Given the description of an element on the screen output the (x, y) to click on. 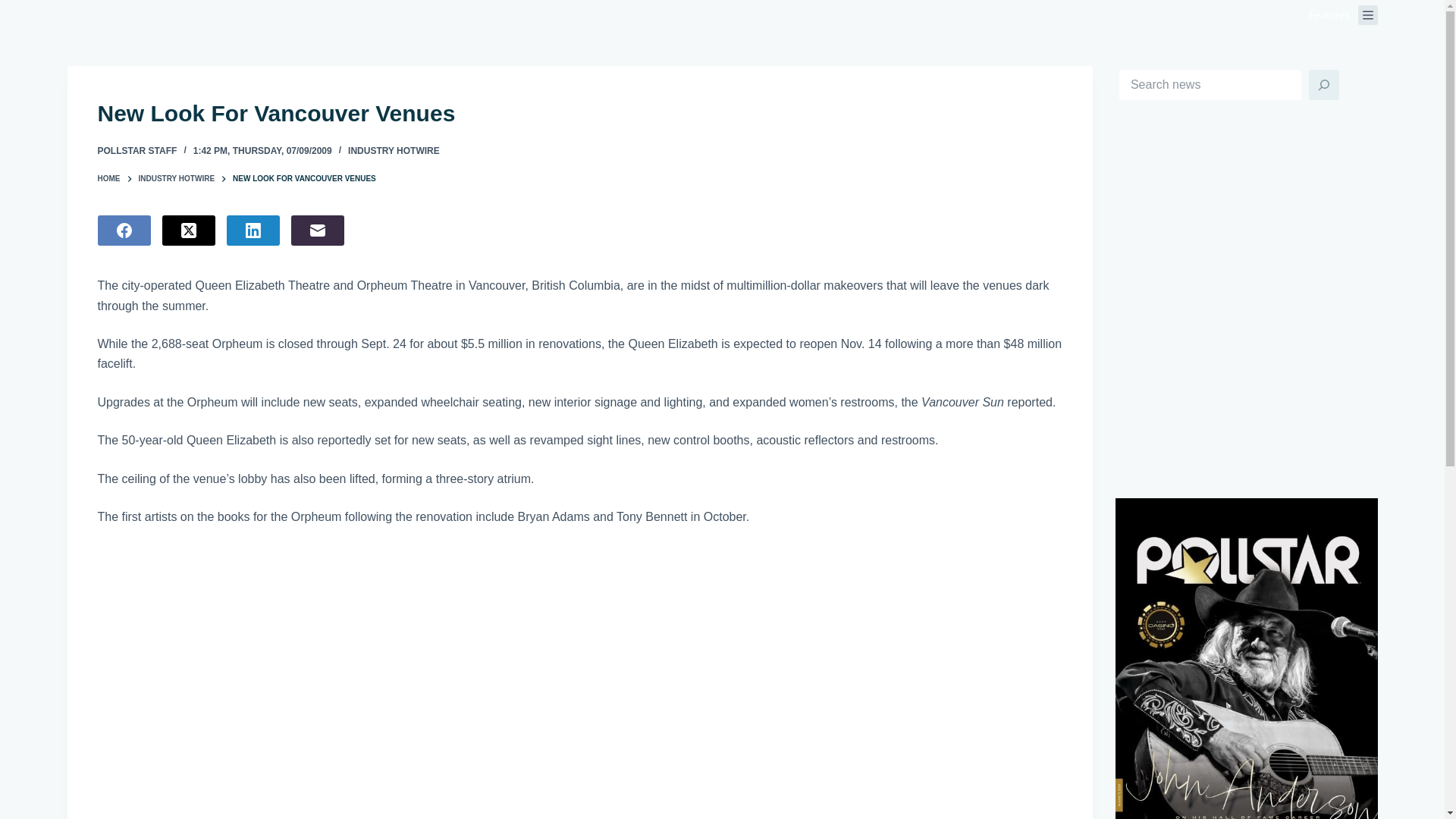
Skip to content (15, 7)
New Look For Vancouver Venues (579, 113)
Posts by Pollstar Staff (136, 150)
